Given the description of an element on the screen output the (x, y) to click on. 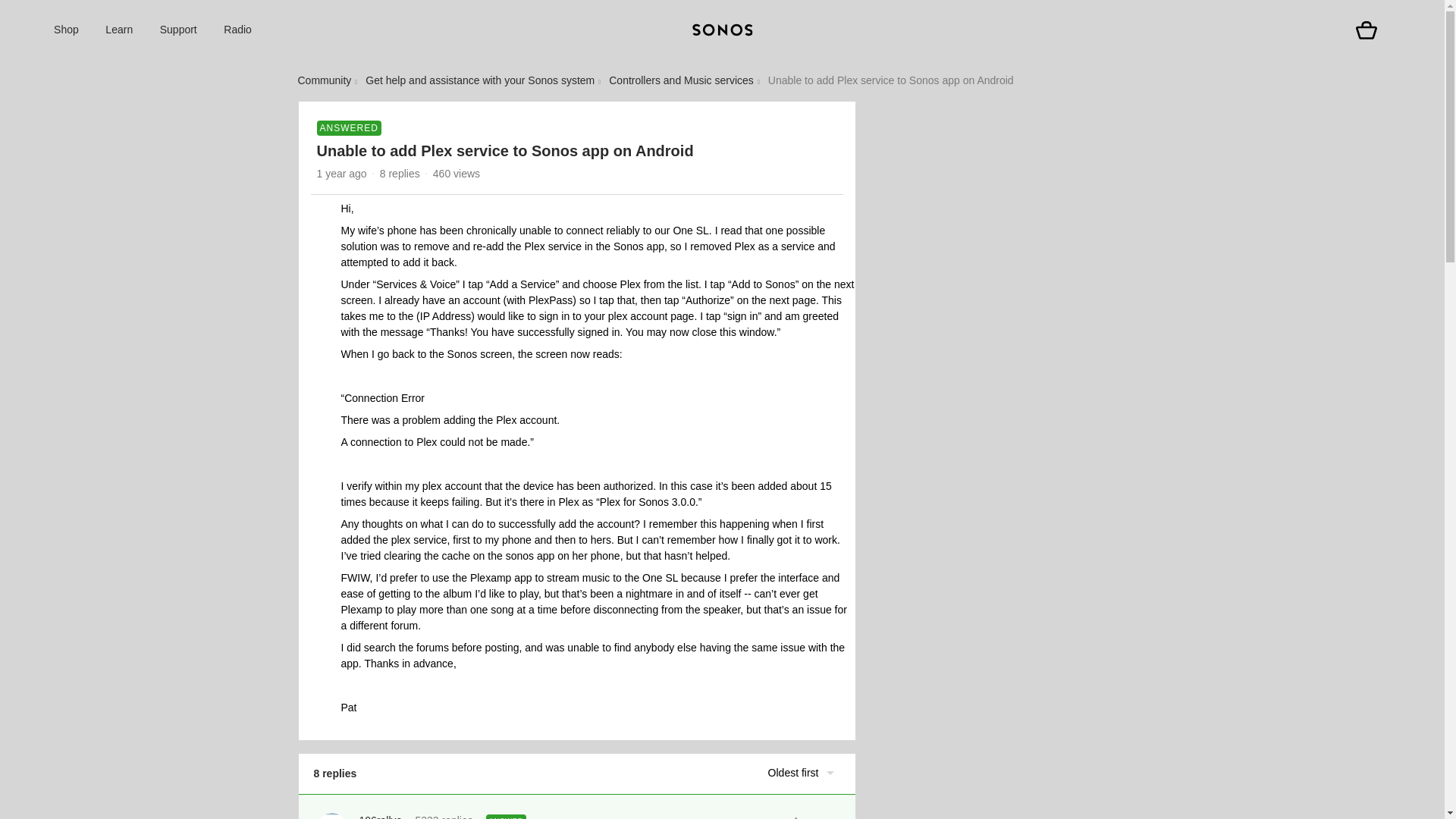
Radio (237, 30)
106rallye (381, 816)
Shop (65, 30)
8 replies (400, 173)
Learn (118, 30)
Get help and assistance with your Sonos system (479, 80)
Support (178, 30)
Community (323, 80)
Controllers and Music services (681, 80)
